Given the description of an element on the screen output the (x, y) to click on. 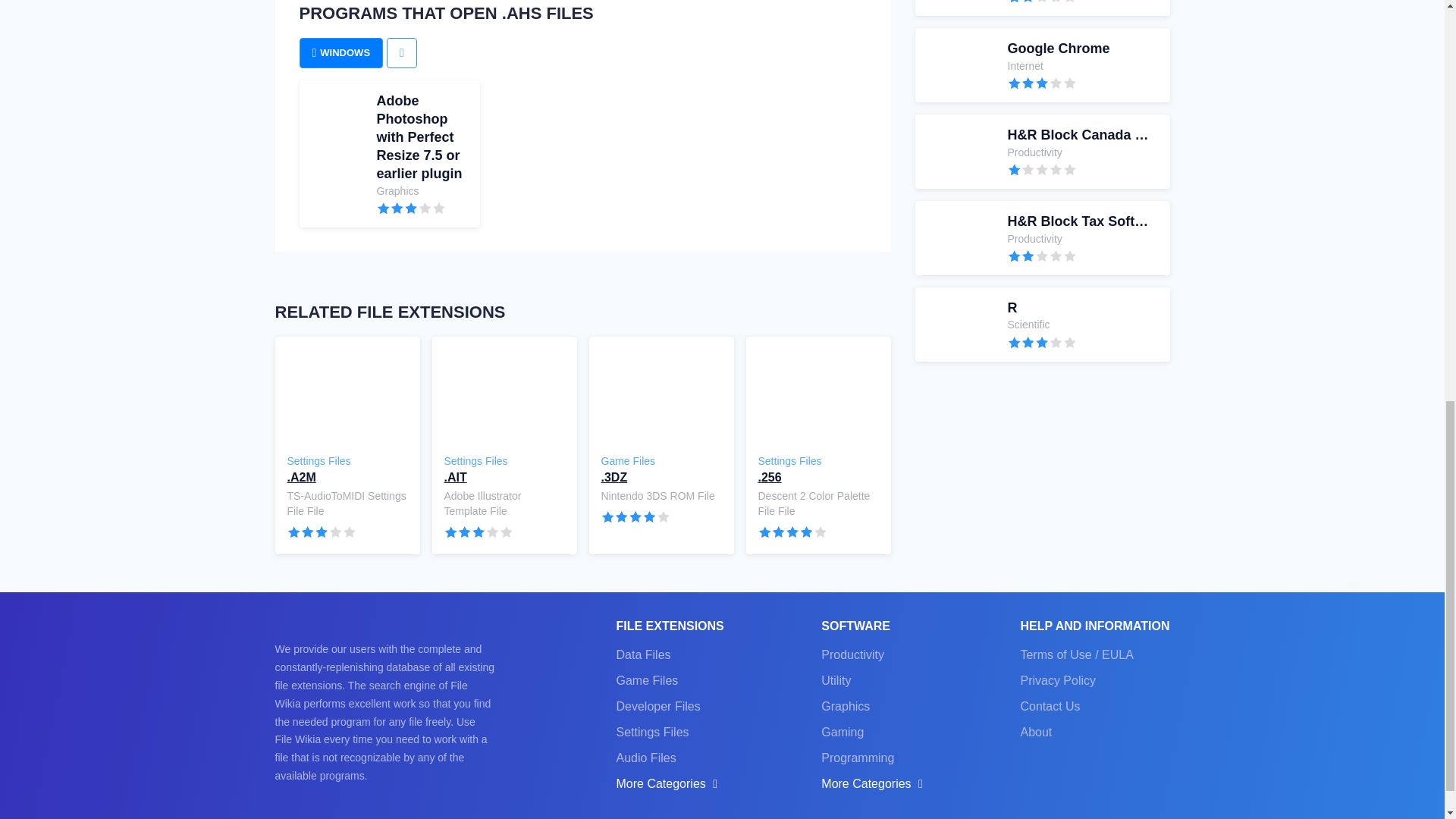
User rating 3.2 (478, 531)
User rating 3.2 (1042, 82)
User rating 2.5 (1041, 324)
User rating 3.4 (1042, 1)
User rating 4.0 (410, 207)
User rating 3.6 (1041, 7)
User rating 1.7 (634, 516)
User rating 2.0 (321, 531)
User rating 4.0 (1042, 169)
WINDOWS (1042, 255)
